Given the description of an element on the screen output the (x, y) to click on. 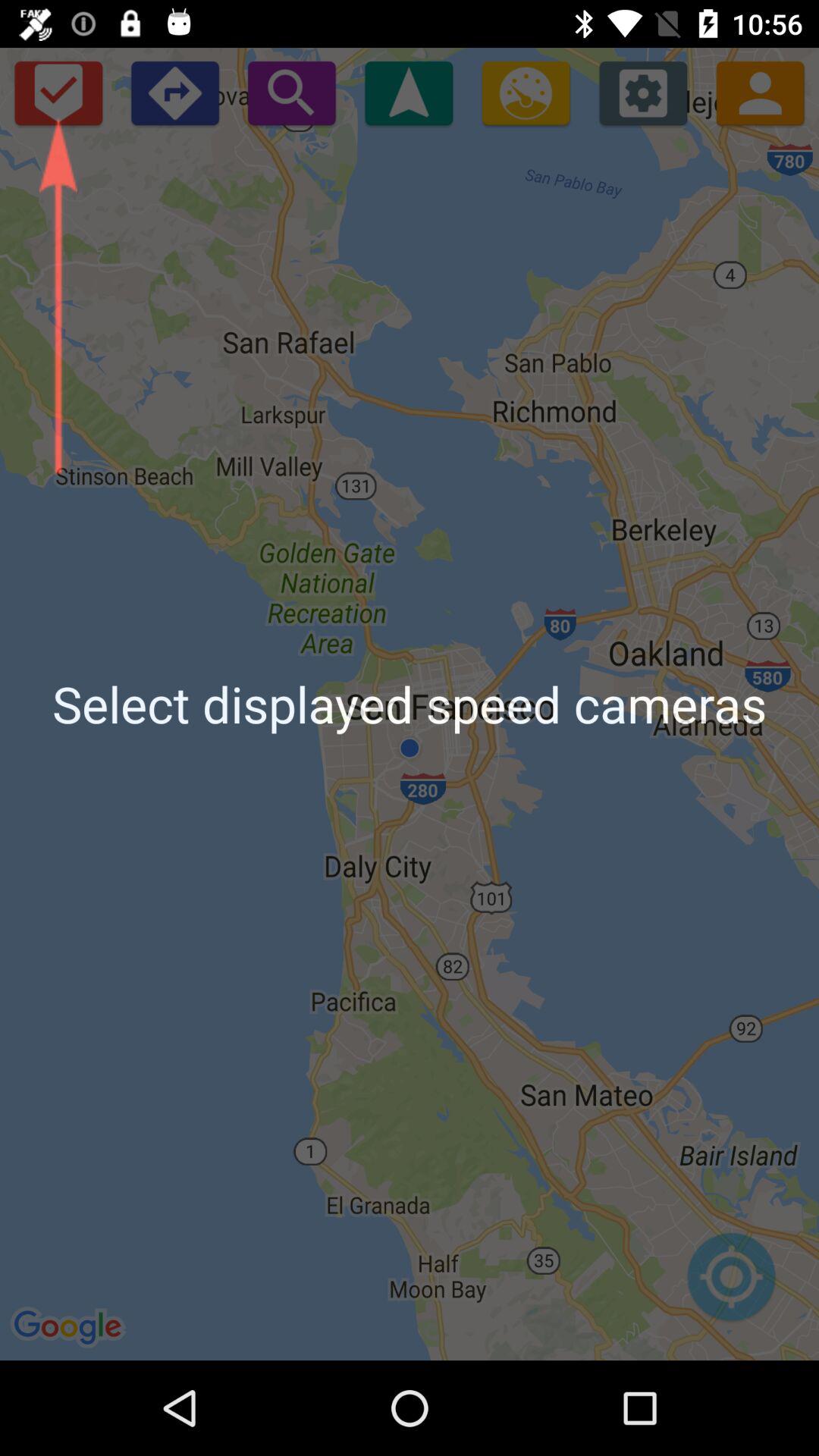
launch app above the select displayed speed (760, 92)
